Given the description of an element on the screen output the (x, y) to click on. 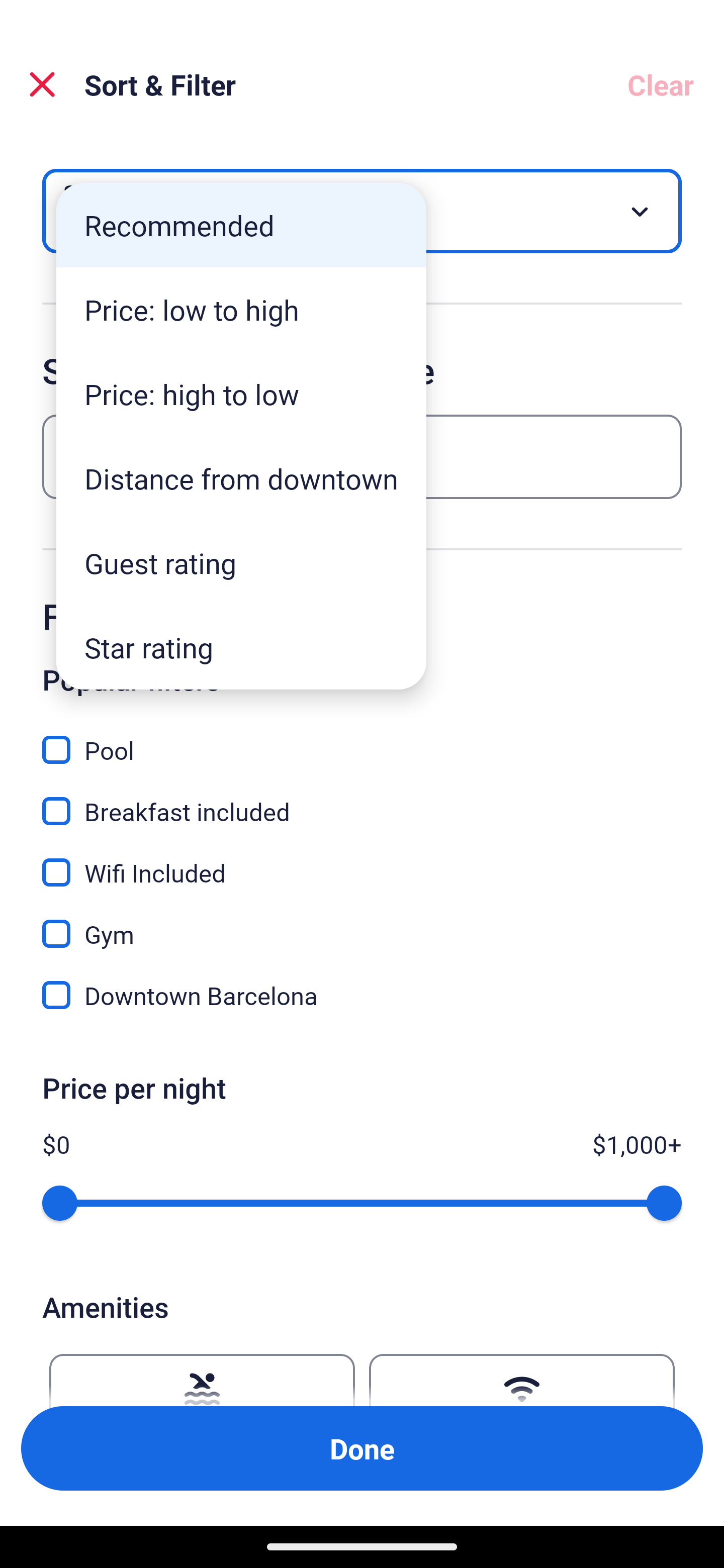
Price: low to high (241, 309)
Price: high to low (241, 393)
Distance from downtown (241, 477)
Guest rating (241, 562)
Star rating (241, 647)
